Given the description of an element on the screen output the (x, y) to click on. 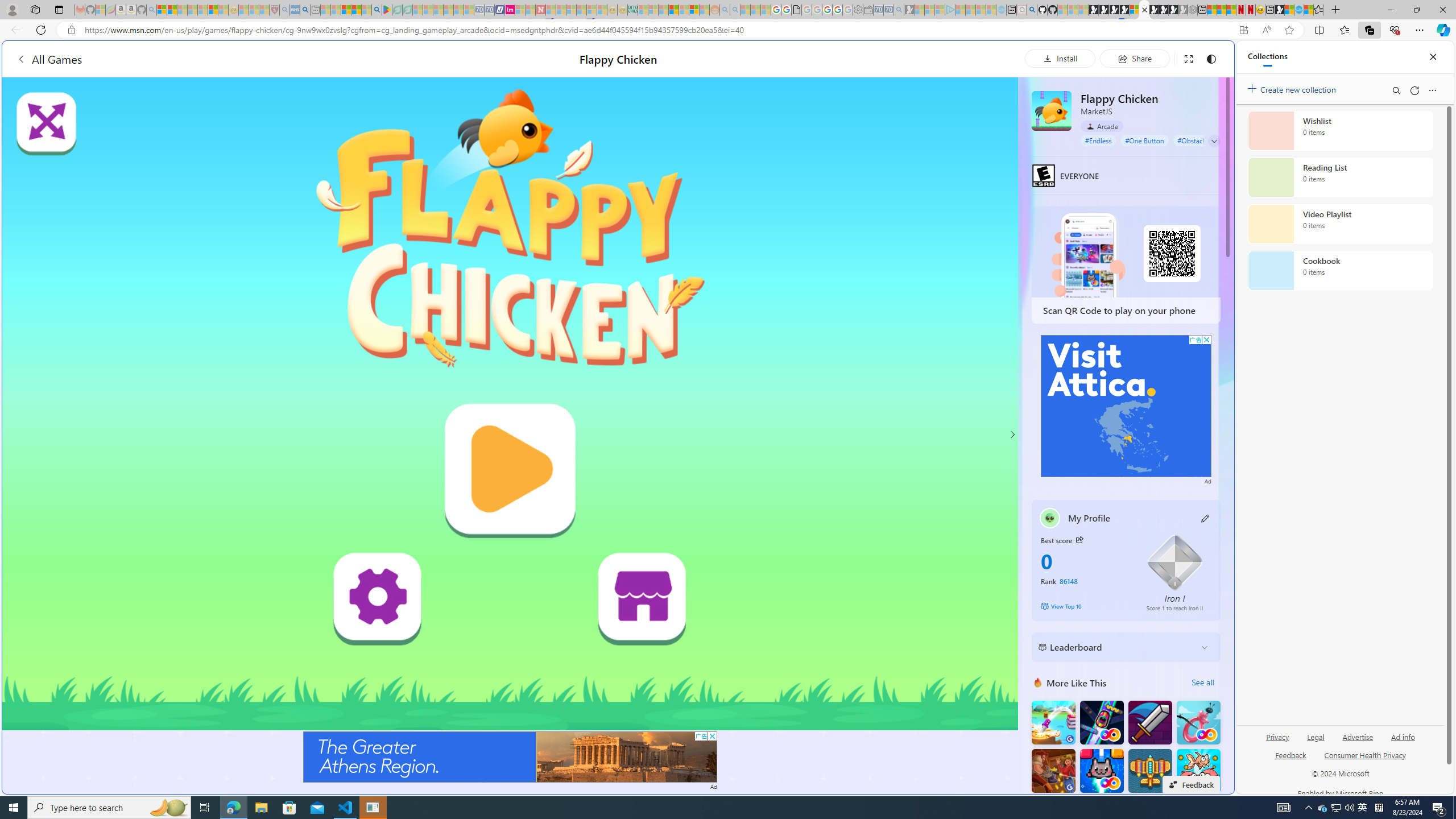
Advertisement (1126, 405)
Expert Portfolios (673, 9)
Full screen (1187, 58)
Terms of Use Agreement - Sleeping (397, 9)
google_privacy_policy_zh-CN.pdf (796, 9)
